Given the description of an element on the screen output the (x, y) to click on. 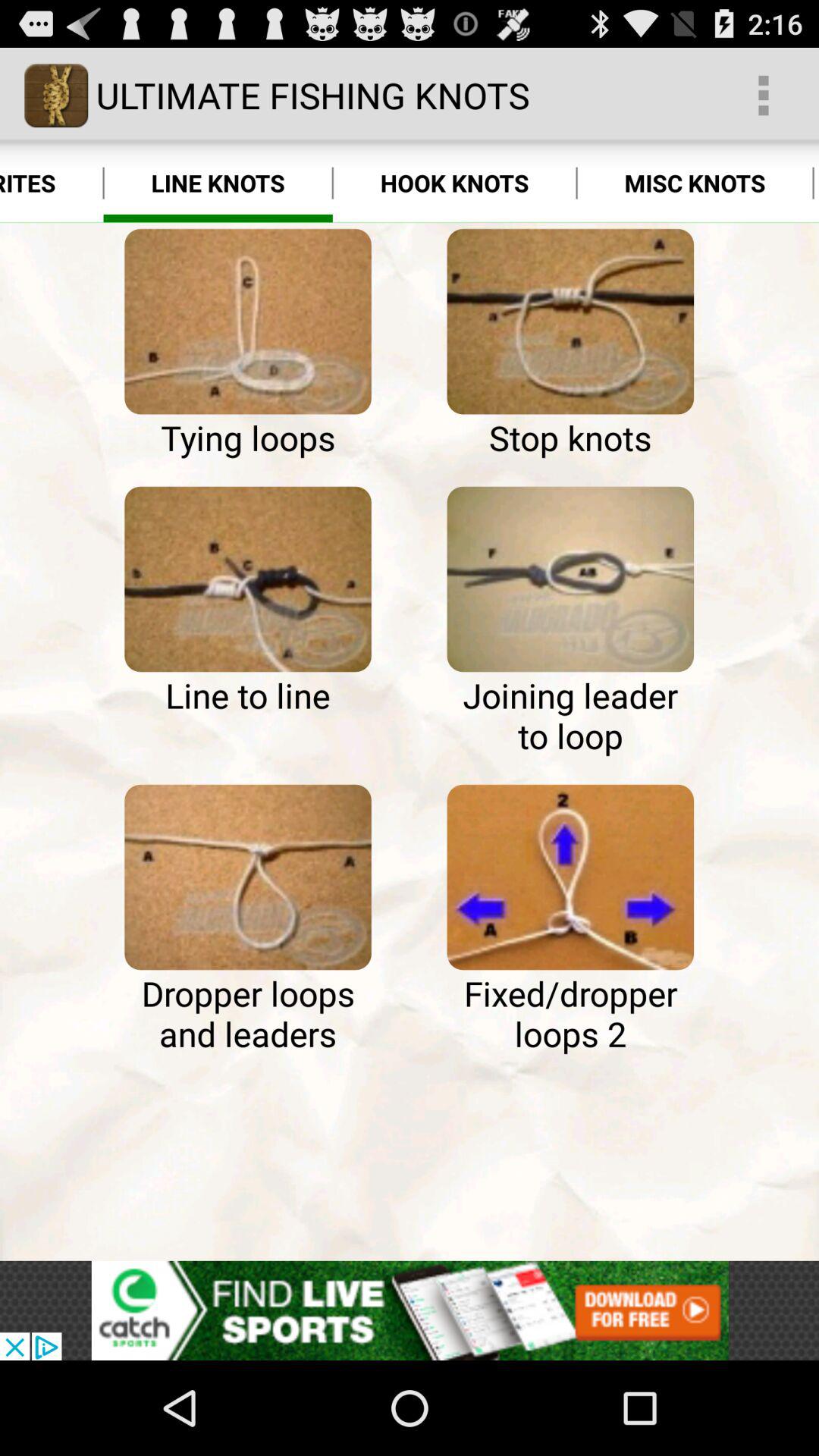
open fixed/dropper loops 2 (570, 876)
